Given the description of an element on the screen output the (x, y) to click on. 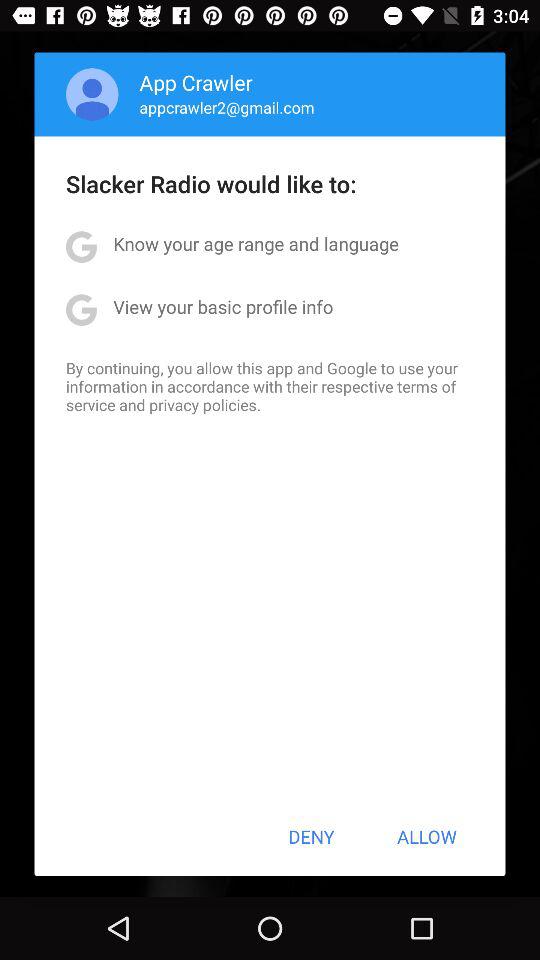
turn on the icon to the left of app crawler item (92, 94)
